Given the description of an element on the screen output the (x, y) to click on. 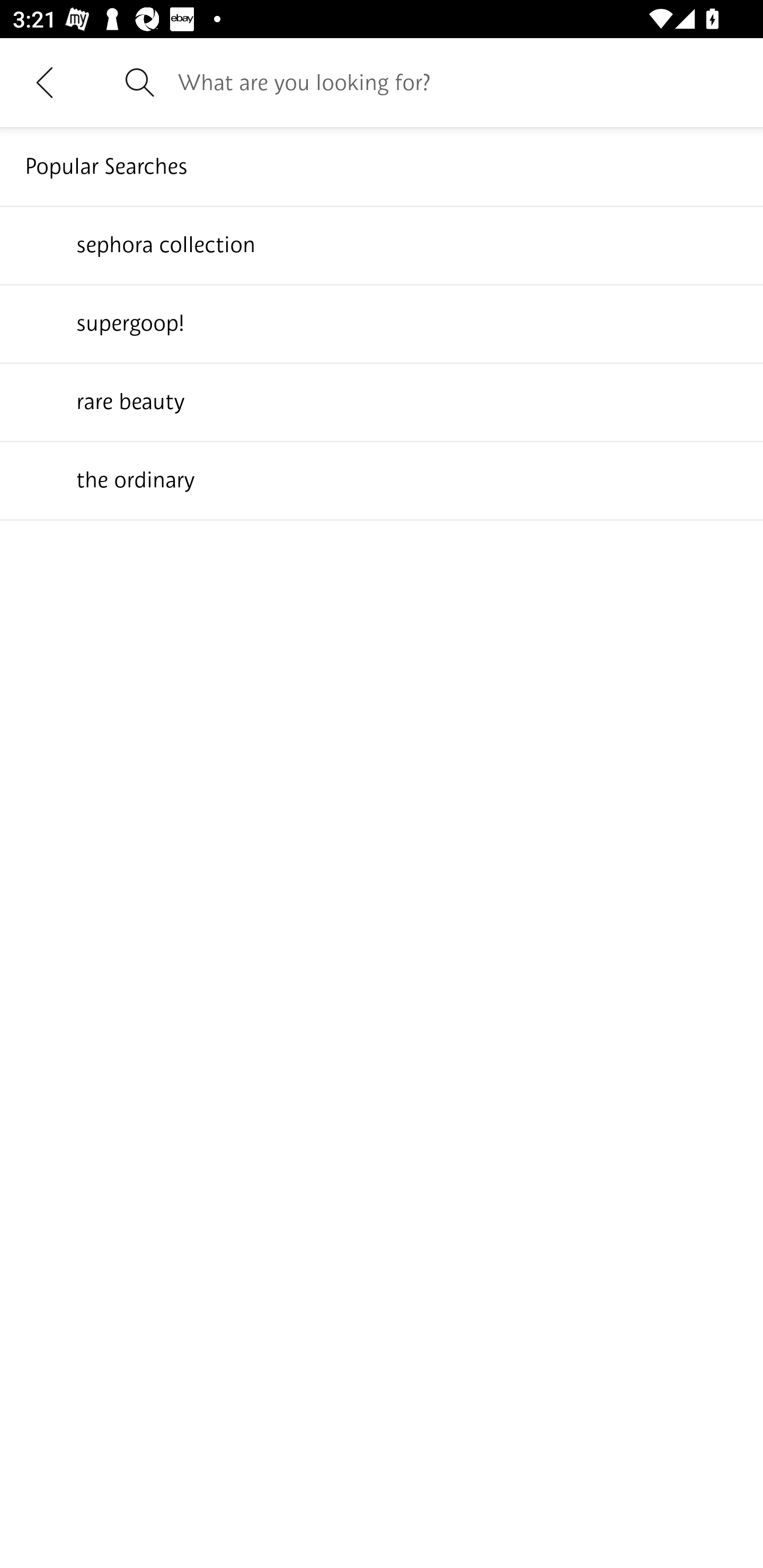
Navigate up (44, 82)
What are you looking for? (457, 82)
sephora collection (381, 244)
supergoop! (381, 322)
rare beauty (381, 401)
the ordinary (381, 479)
